Given the description of an element on the screen output the (x, y) to click on. 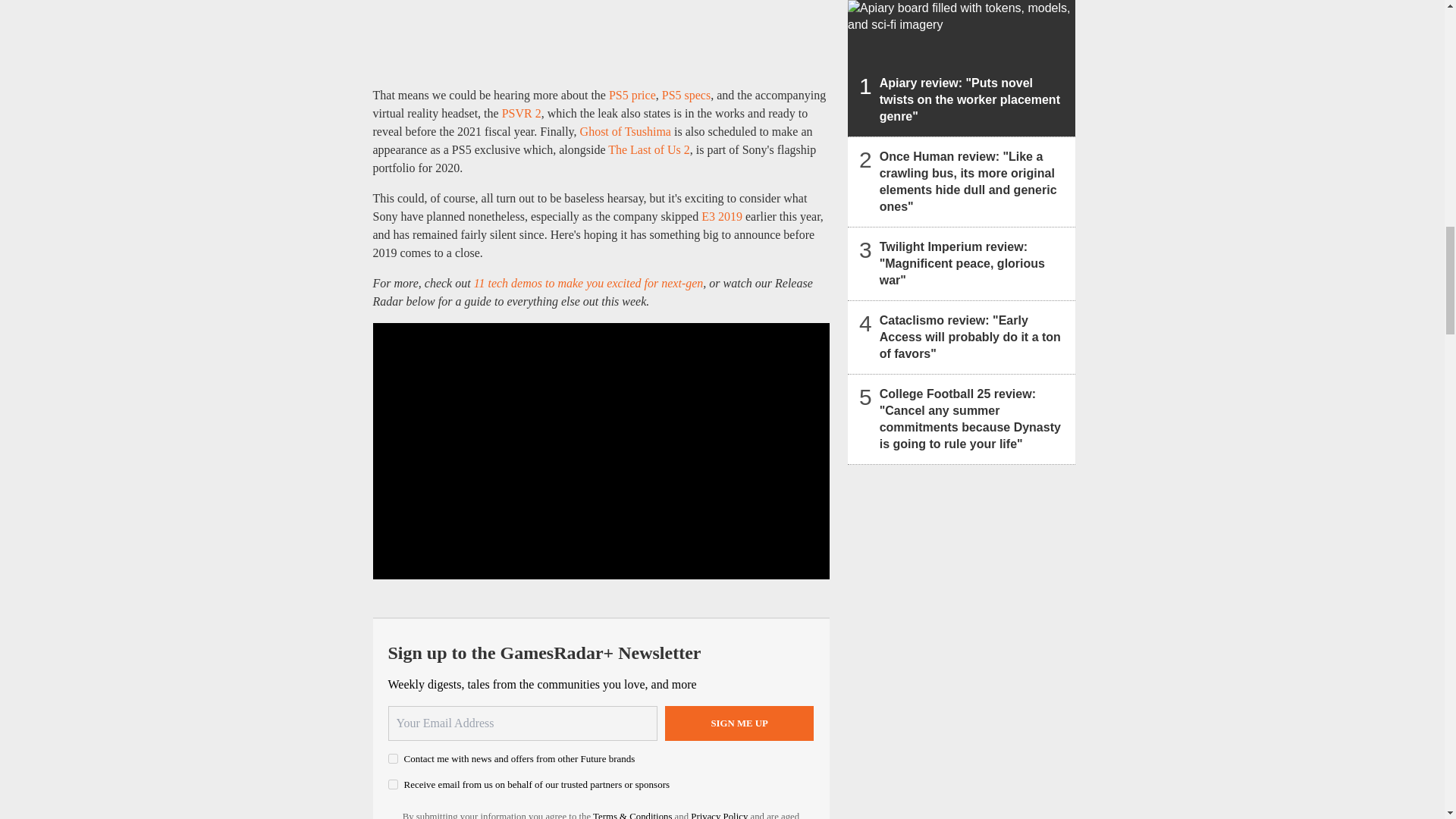
Sign me up (739, 723)
on (392, 784)
on (392, 758)
